Given the description of an element on the screen output the (x, y) to click on. 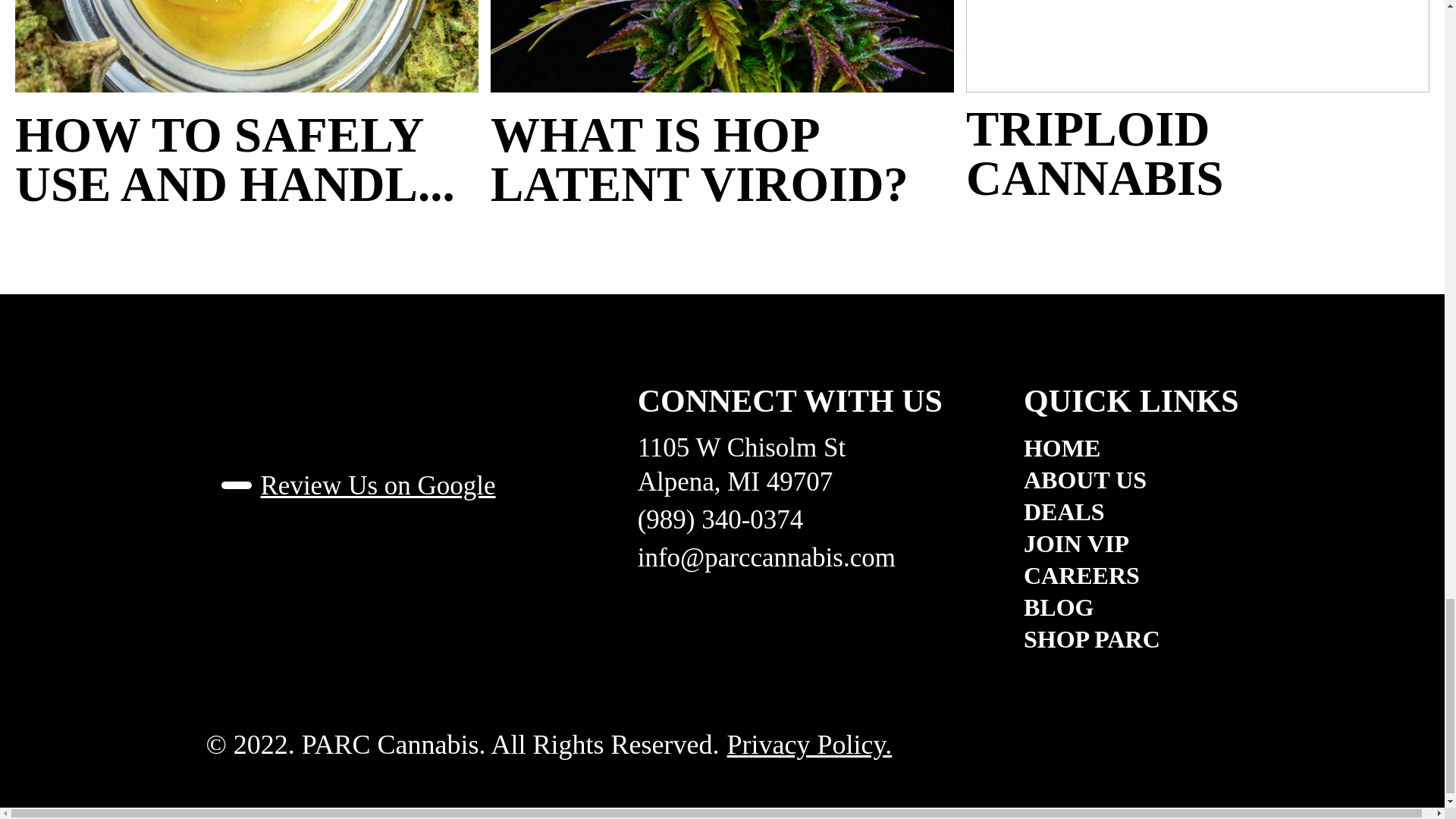
CAREERS (1131, 575)
BLOG (1131, 607)
WHAT IS HOP LATENT VIROID? (721, 159)
HOME (1131, 447)
HOW TO SAFELY USE AND HANDL... (246, 159)
ABOUT US (1131, 479)
Review Us on Google (358, 485)
TRIPLOID CANNABIS (1197, 153)
JOIN VIP (1131, 543)
Privacy Policy. (809, 744)
